Given the description of an element on the screen output the (x, y) to click on. 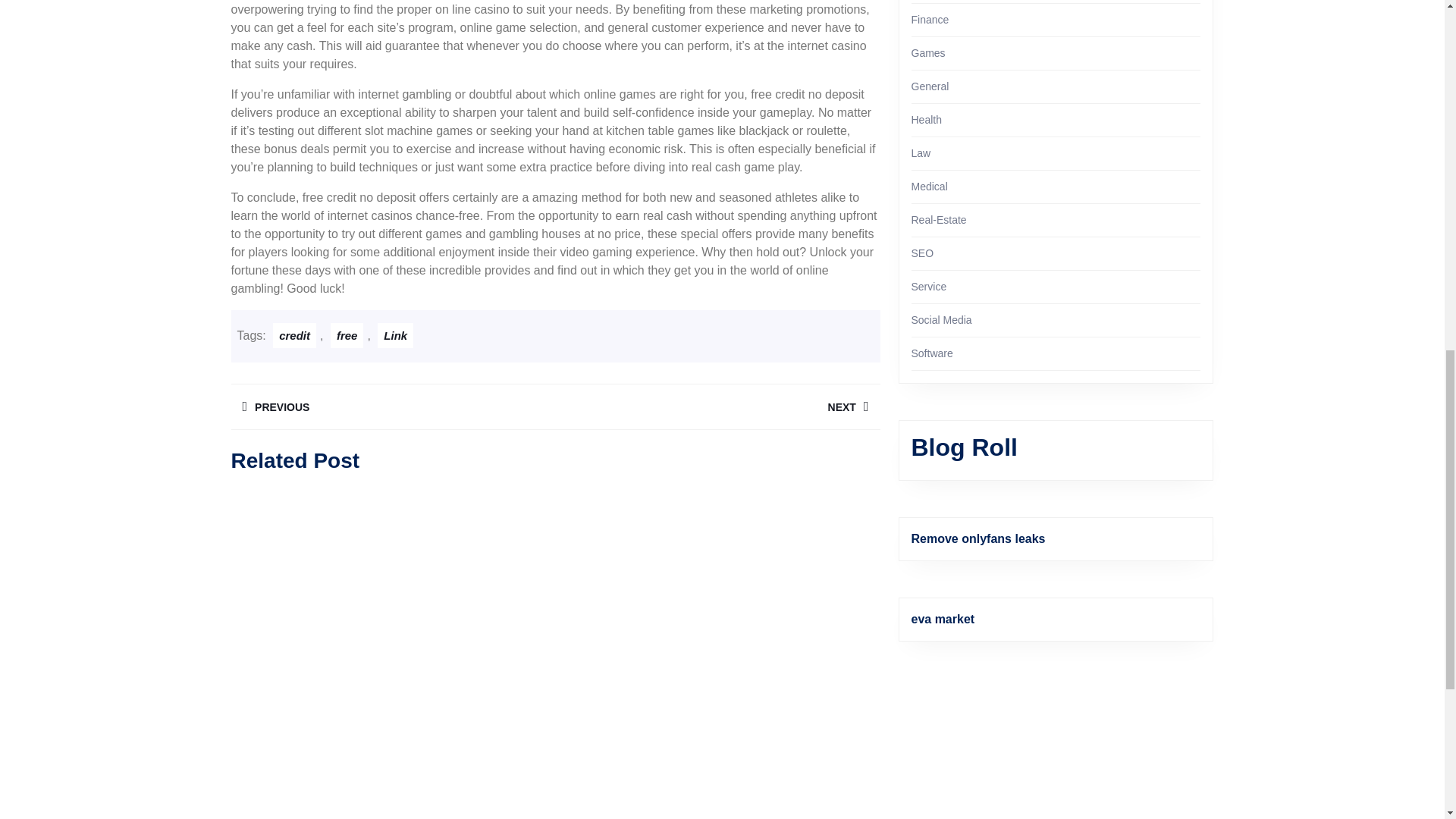
free (347, 335)
credit (294, 335)
Link (392, 406)
